Given the description of an element on the screen output the (x, y) to click on. 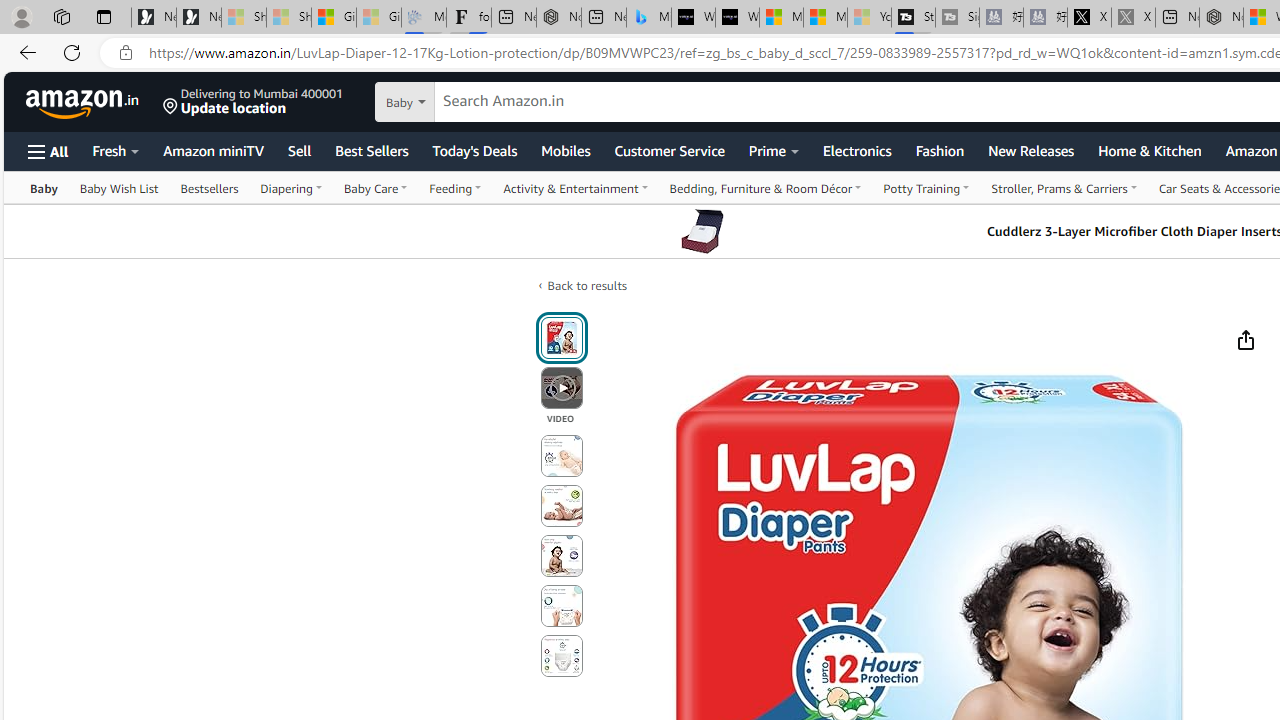
Streaming Coverage | T3 (913, 17)
Nordace - My Account (1220, 17)
Microsoft Bing Travel - Shangri-La Hotel Bangkok (648, 17)
Newsletter Sign Up (198, 17)
What's the best AI voice generator? - voice.ai (737, 17)
